Given the description of an element on the screen output the (x, y) to click on. 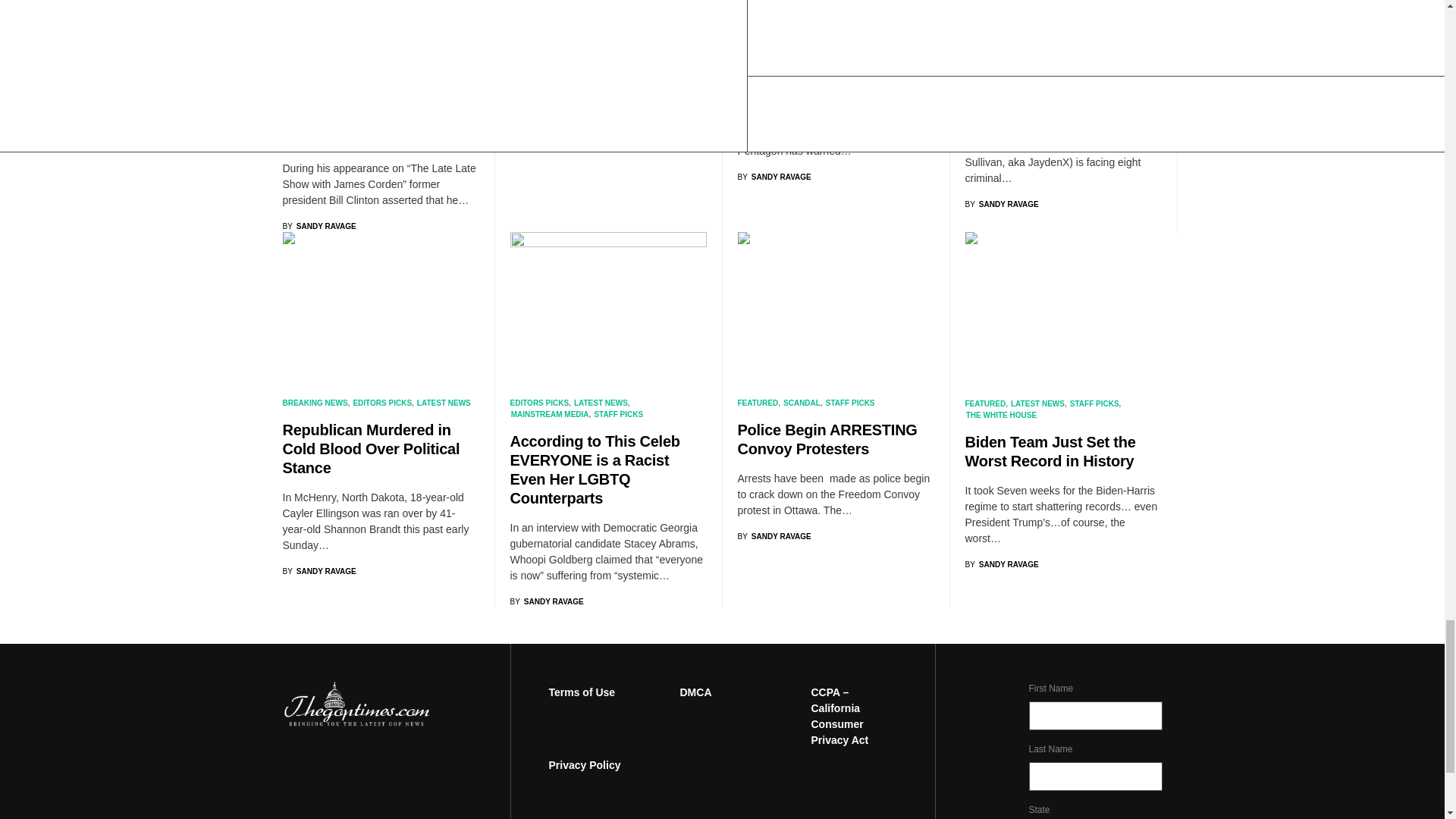
View all posts by Sandy Ravage (773, 536)
View all posts by Sandy Ravage (546, 601)
View all posts by Sandy Ravage (773, 176)
View all posts by Sandy Ravage (318, 225)
View all posts by Sandy Ravage (546, 143)
View all posts by Sandy Ravage (1000, 204)
View all posts by Sandy Ravage (318, 571)
View all posts by Sandy Ravage (1000, 564)
